Given the description of an element on the screen output the (x, y) to click on. 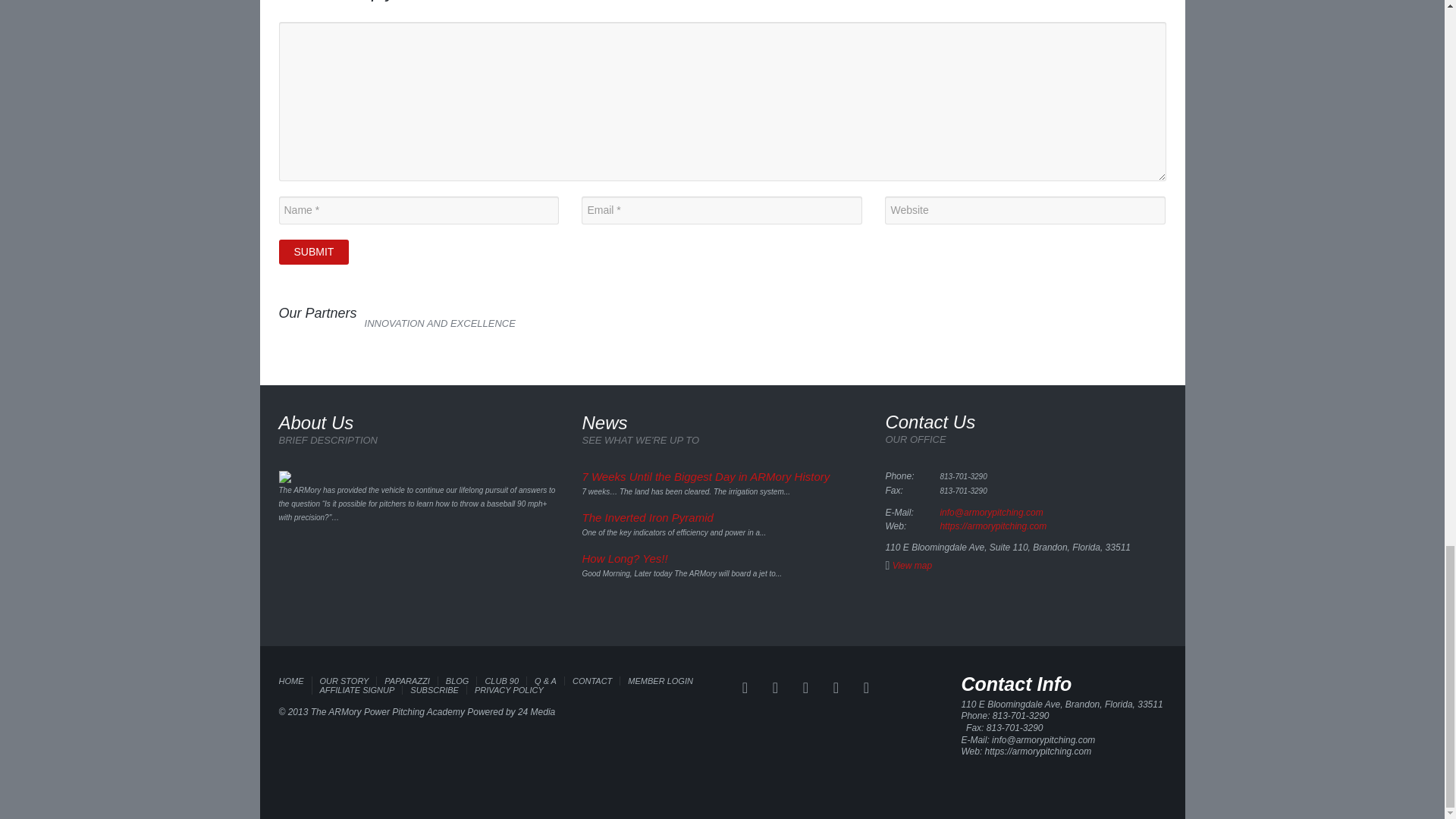
How Long? Yes!! (623, 558)
The Inverted Iron Pyramid (646, 517)
7 Weeks Until the Biggest Day in ARMory History (704, 476)
SUBMIT (314, 251)
